Given the description of an element on the screen output the (x, y) to click on. 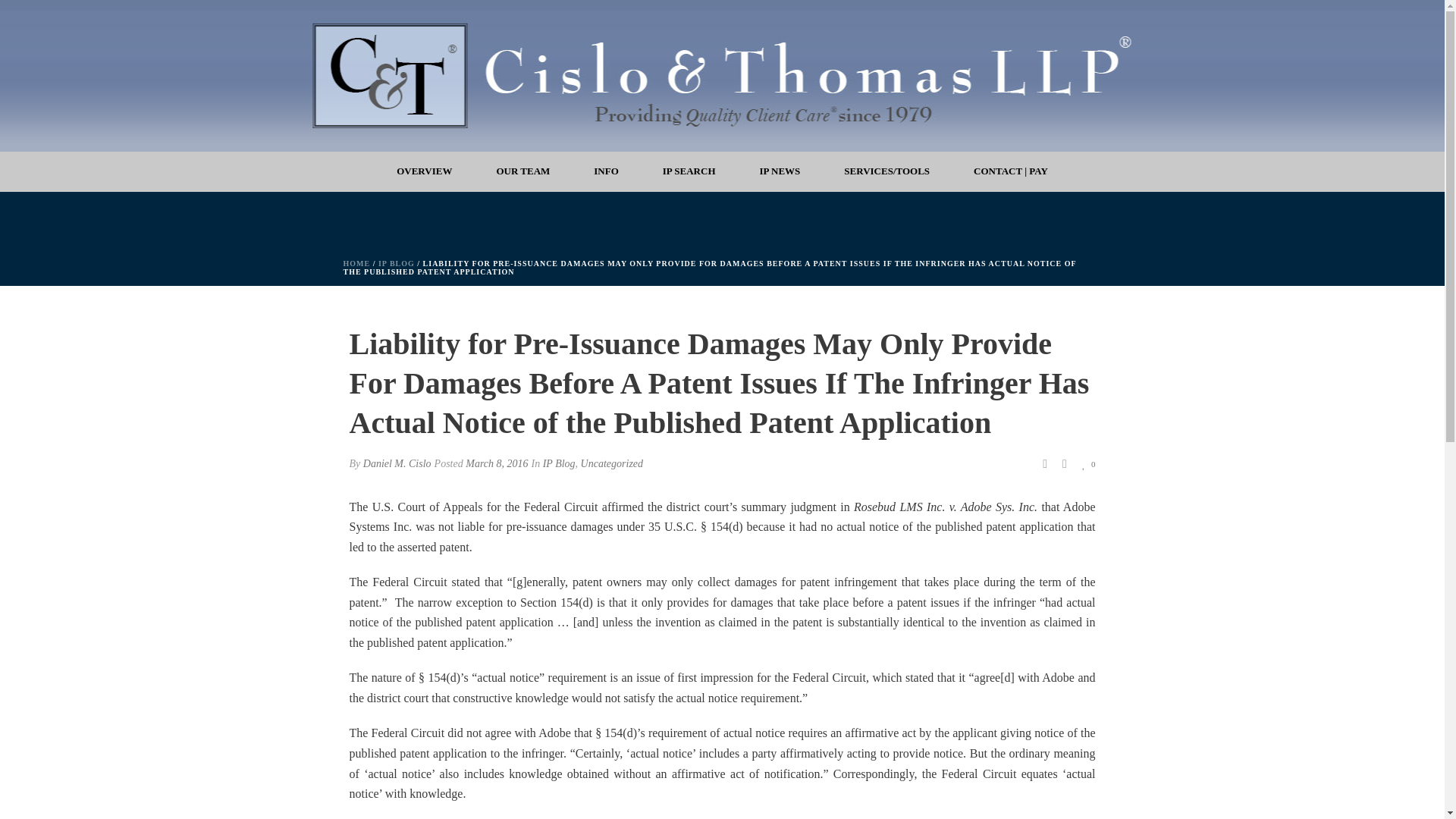
OVERVIEW (424, 171)
OUR TEAM (523, 171)
INFO (606, 171)
Posts by Daniel M. Cislo (396, 463)
